Given the description of an element on the screen output the (x, y) to click on. 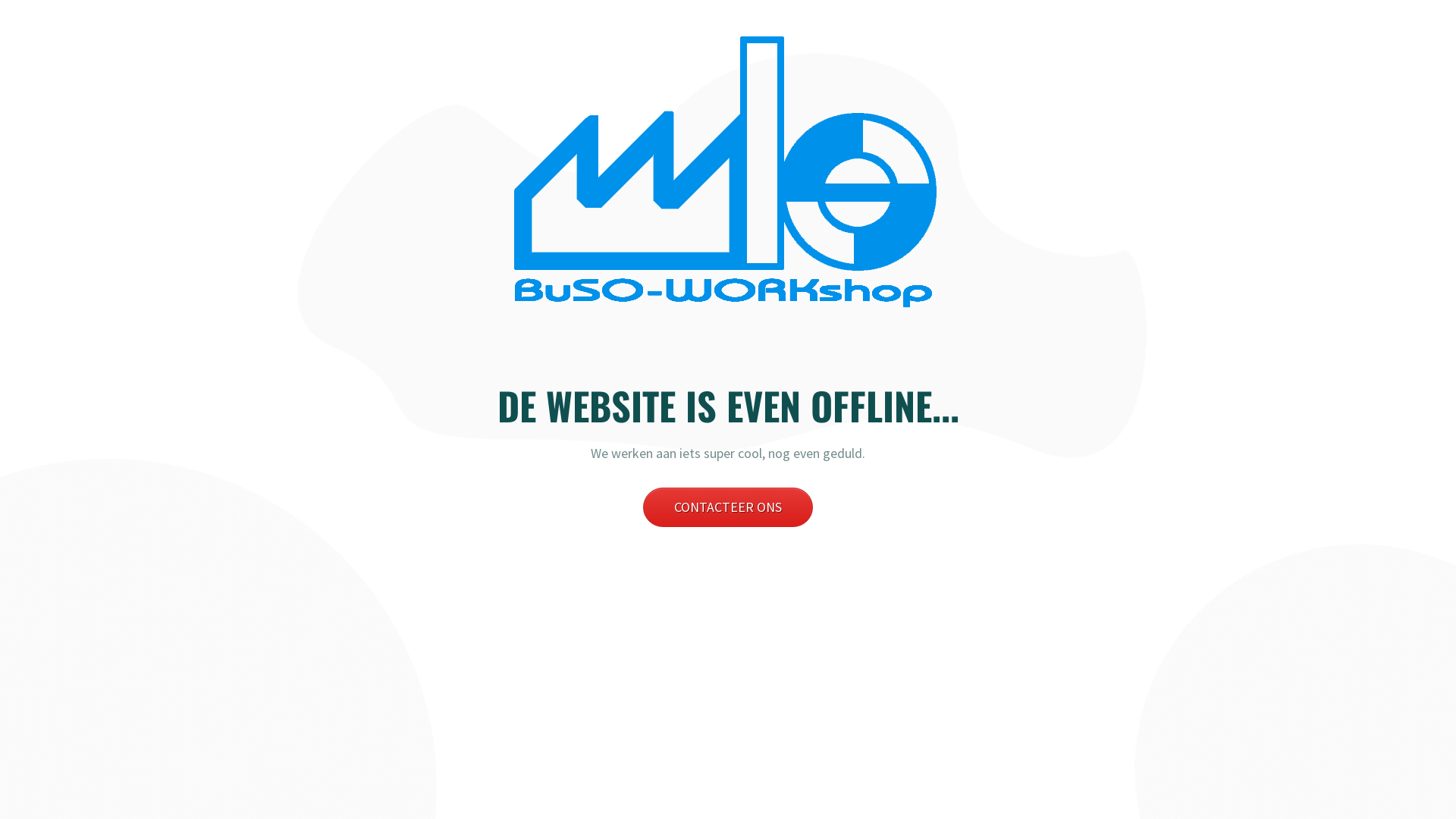
CONTACTEER ONS Element type: text (727, 507)
